Given the description of an element on the screen output the (x, y) to click on. 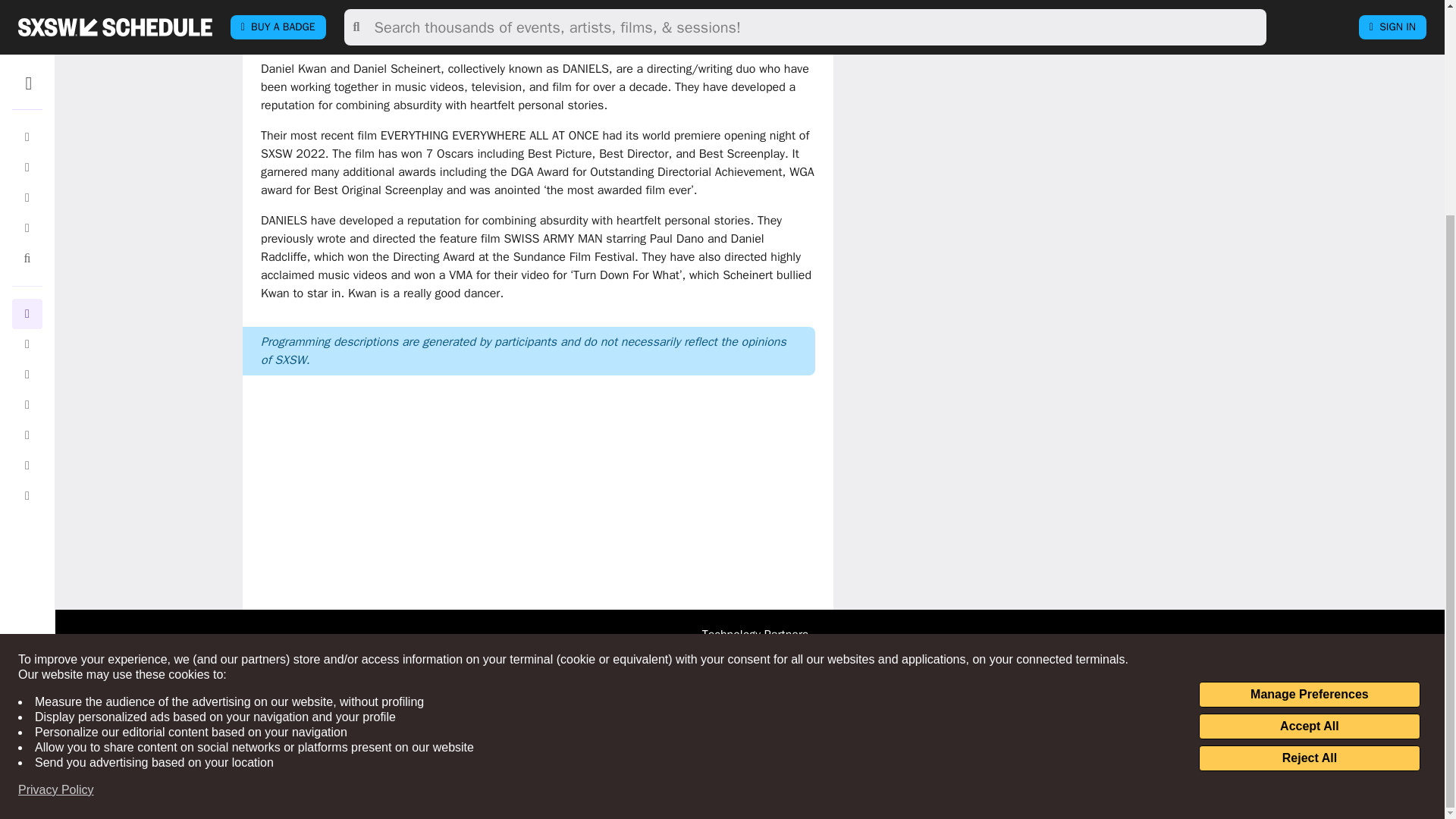
Manage Preferences (1309, 412)
Privacy Policy (55, 507)
Reject All (1309, 475)
Accept All (1309, 444)
